Given the description of an element on the screen output the (x, y) to click on. 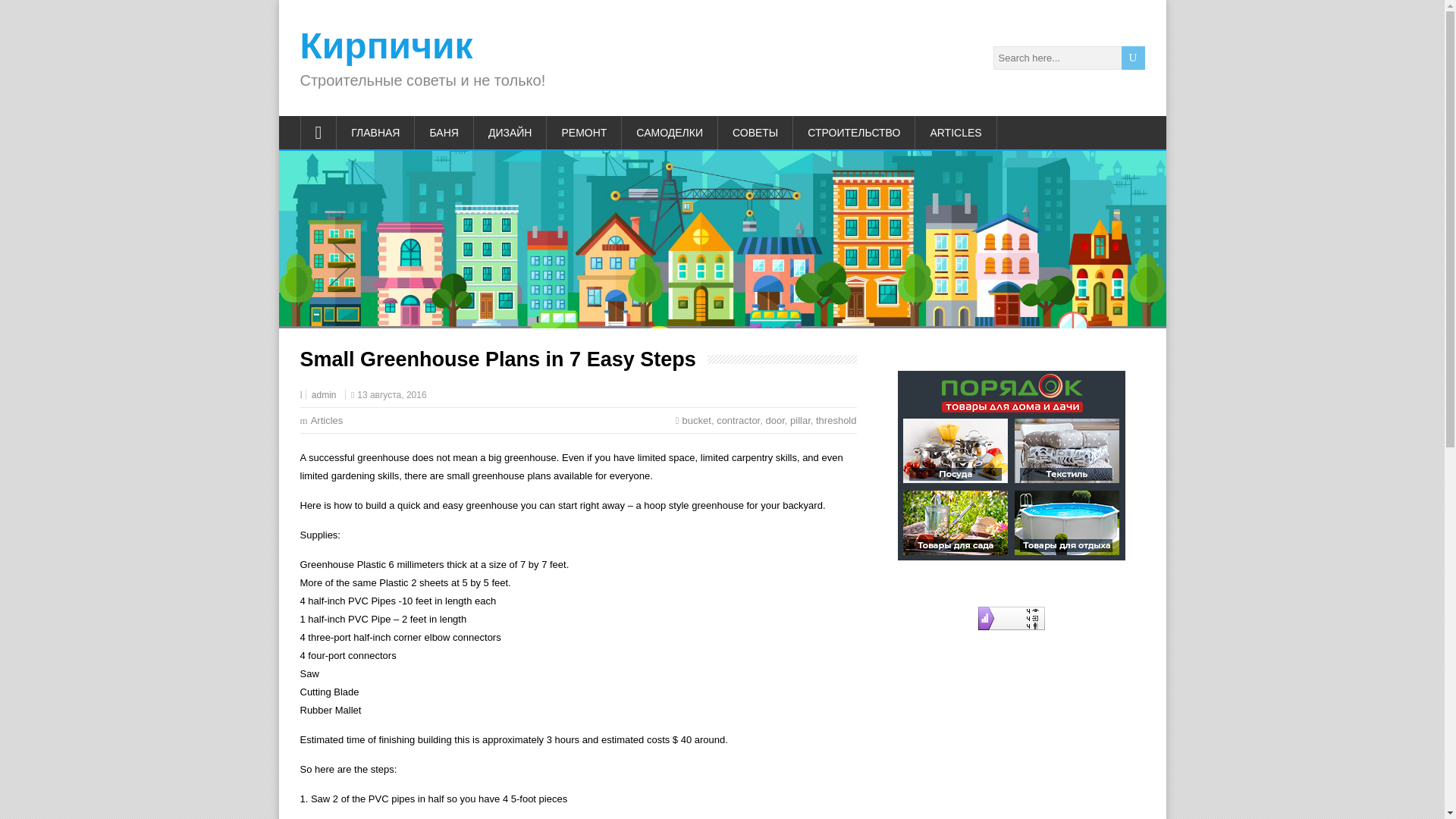
contractor (738, 419)
U (1132, 57)
pillar (800, 419)
admin (323, 394)
ARTICLES (955, 132)
U (1132, 57)
threshold (835, 419)
U (1132, 57)
door (774, 419)
Articles (327, 419)
bucket (696, 419)
